Given the description of an element on the screen output the (x, y) to click on. 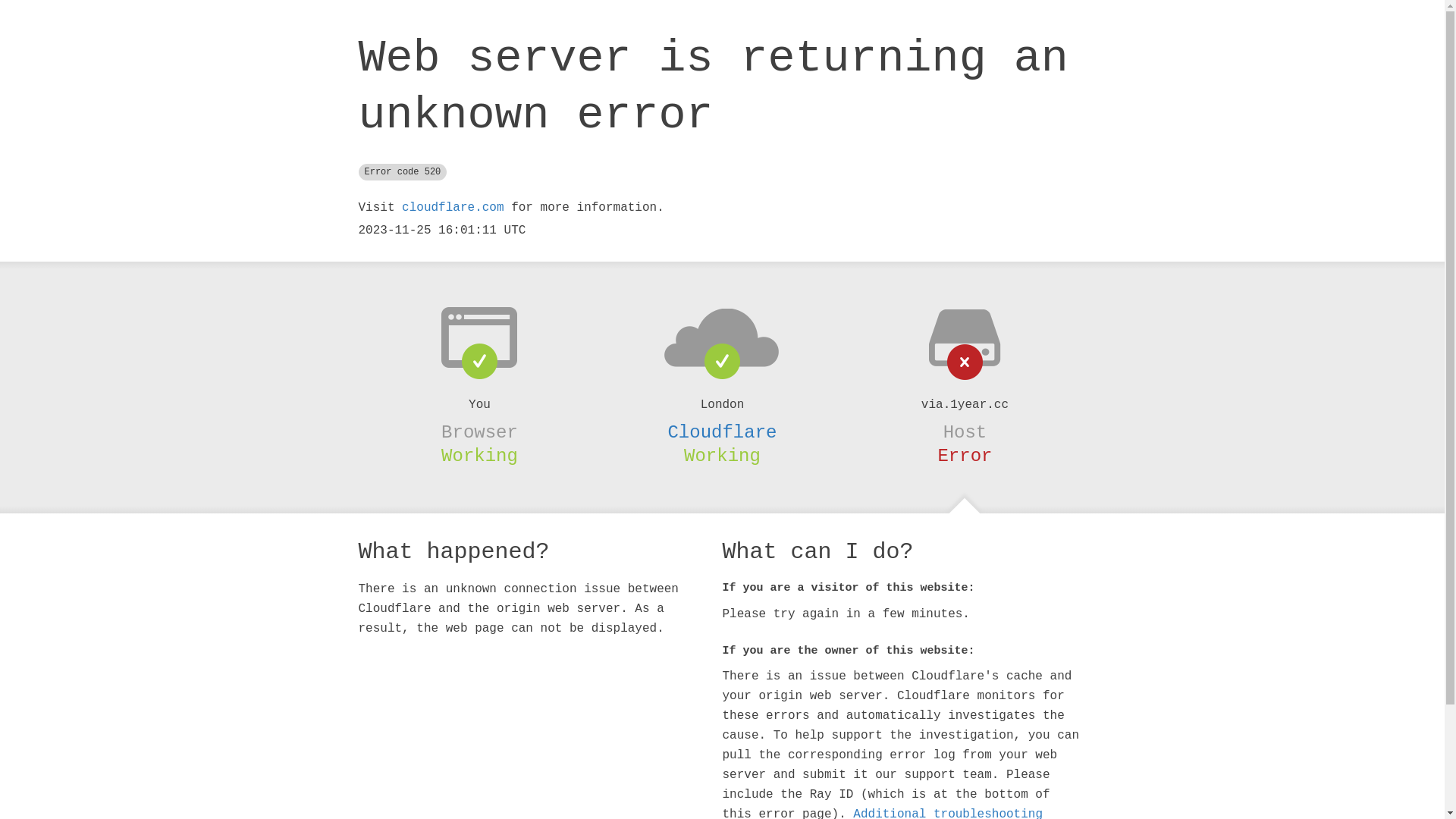
cloudflare.com Element type: text (452, 207)
Cloudflare Element type: text (721, 432)
